Given the description of an element on the screen output the (x, y) to click on. 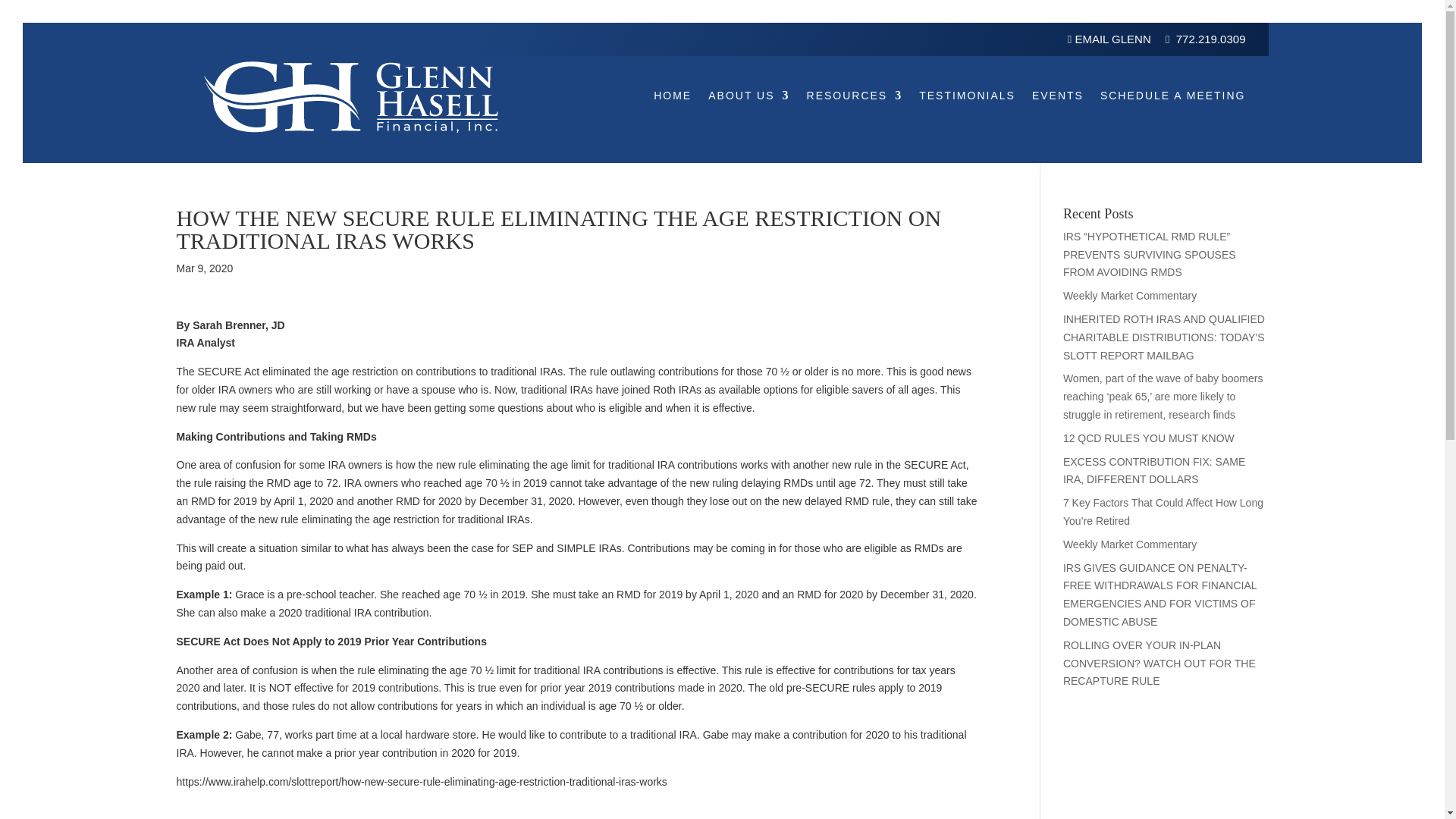
Weekly Market Commentary (1129, 295)
ABOUT US (748, 95)
Weekly Market Commentary (1129, 544)
772.219.0309 (1211, 38)
HOME (672, 95)
TESTIMONIALS (966, 95)
12 QCD RULES YOU MUST KNOW (1148, 438)
EVENTS (1057, 95)
RESOURCES (854, 95)
EMAIL GLENN (1110, 38)
EXCESS CONTRIBUTION FIX: SAME IRA, DIFFERENT DOLLARS (1153, 470)
SCHEDULE A MEETING (1173, 95)
